Given the description of an element on the screen output the (x, y) to click on. 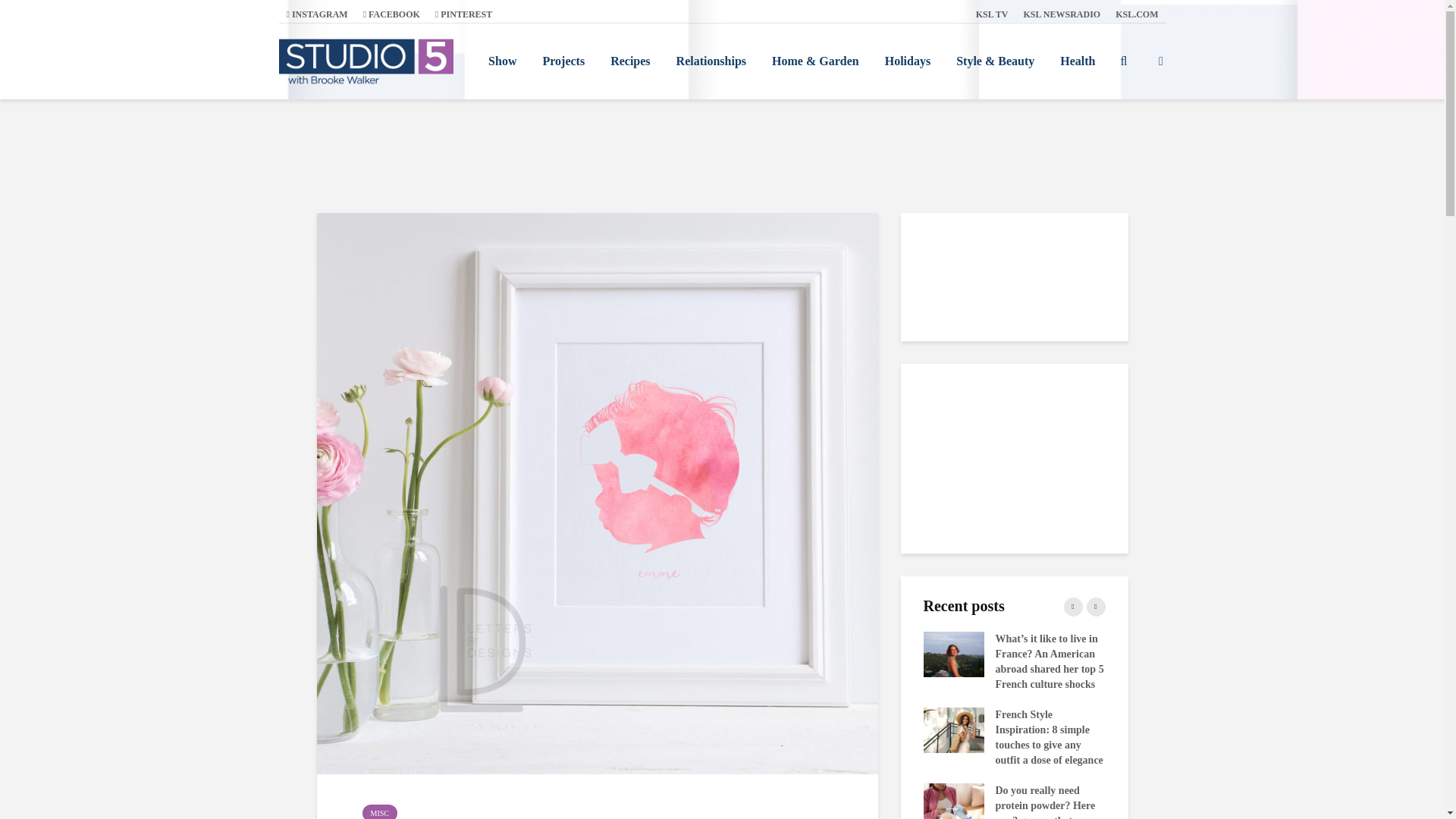
Recipes (629, 60)
Relationships (711, 60)
MISC (379, 811)
Projects (563, 60)
KSL NEWSRADIO (1061, 14)
PINTEREST (463, 14)
Health (1077, 60)
Show (502, 60)
Holidays (907, 60)
FACEBOOK (391, 14)
